Given the description of an element on the screen output the (x, y) to click on. 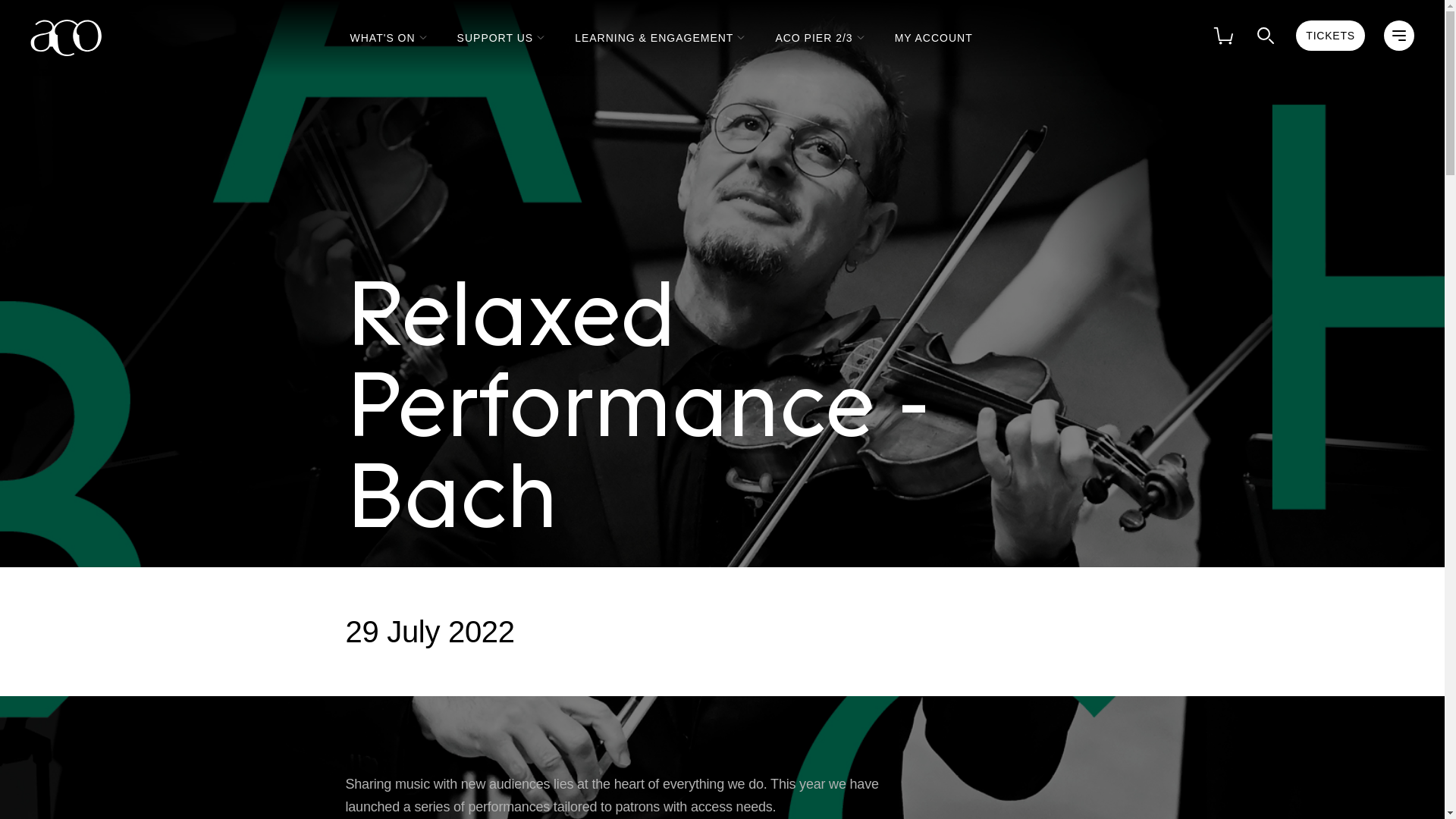
MY ACCOUNT (933, 37)
TICKETS (1330, 35)
